Given the description of an element on the screen output the (x, y) to click on. 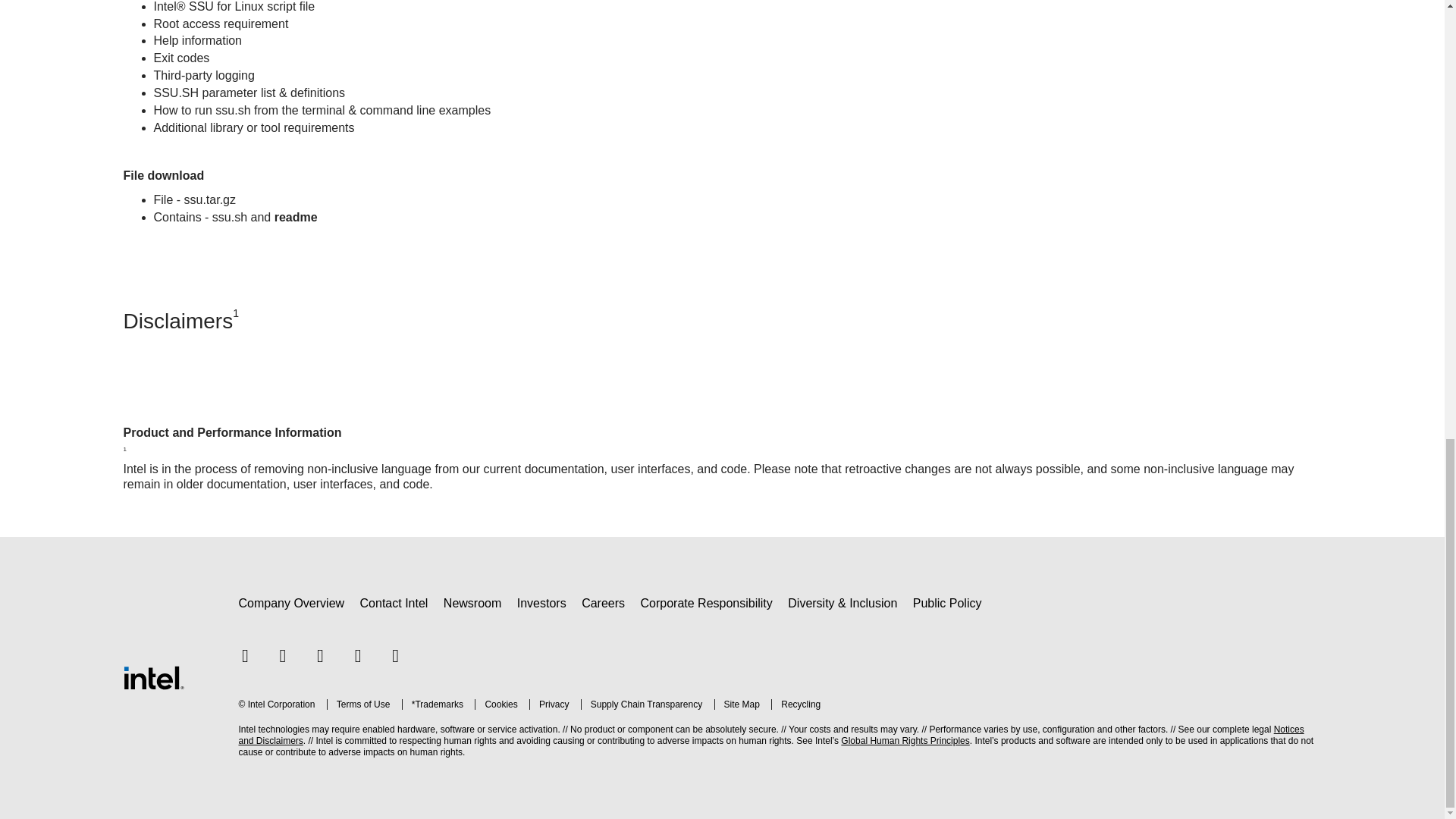
Intel Footer Logo (152, 676)
